Given the description of an element on the screen output the (x, y) to click on. 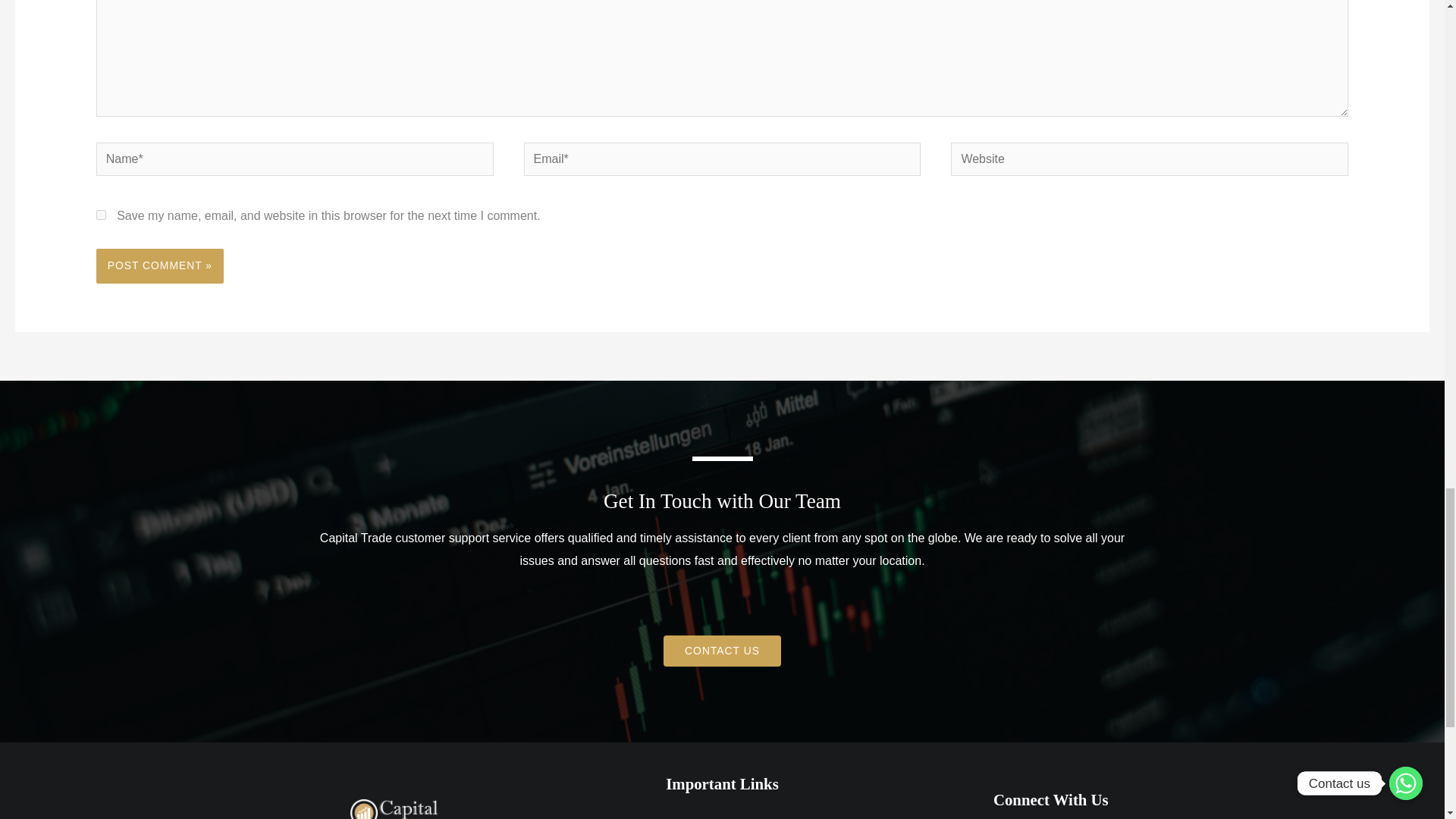
CONTACT US (721, 651)
yes (101, 214)
